Given the description of an element on the screen output the (x, y) to click on. 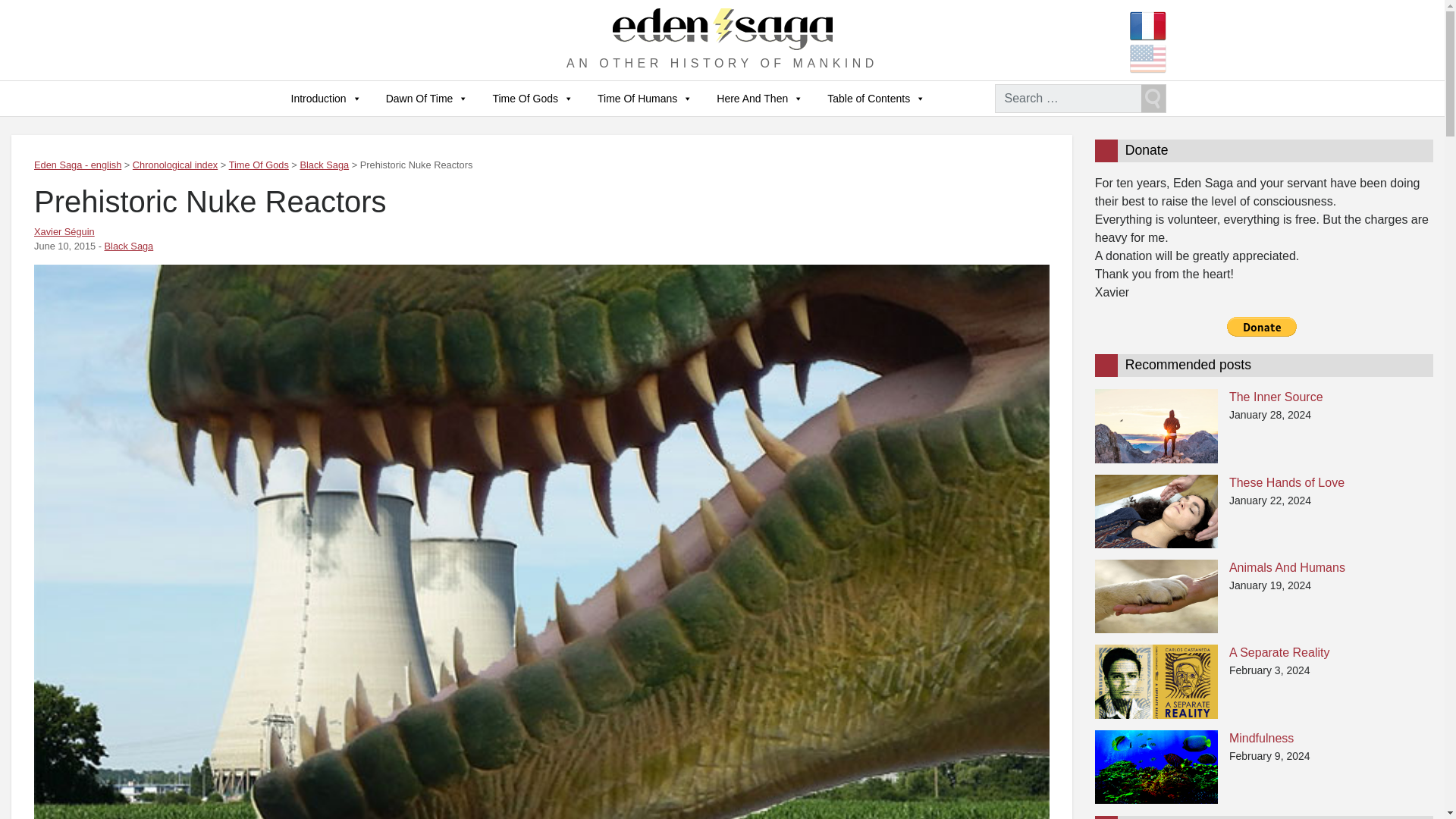
Time Of Gods (532, 98)
Go to Eden Saga - english. (76, 164)
Dawn Of Time (427, 98)
Go to the Black Saga Category archives. (324, 164)
Introduction (326, 98)
Go to the Time Of Gods Category archives. (258, 164)
Go to Chronological index. (174, 164)
